Given the description of an element on the screen output the (x, y) to click on. 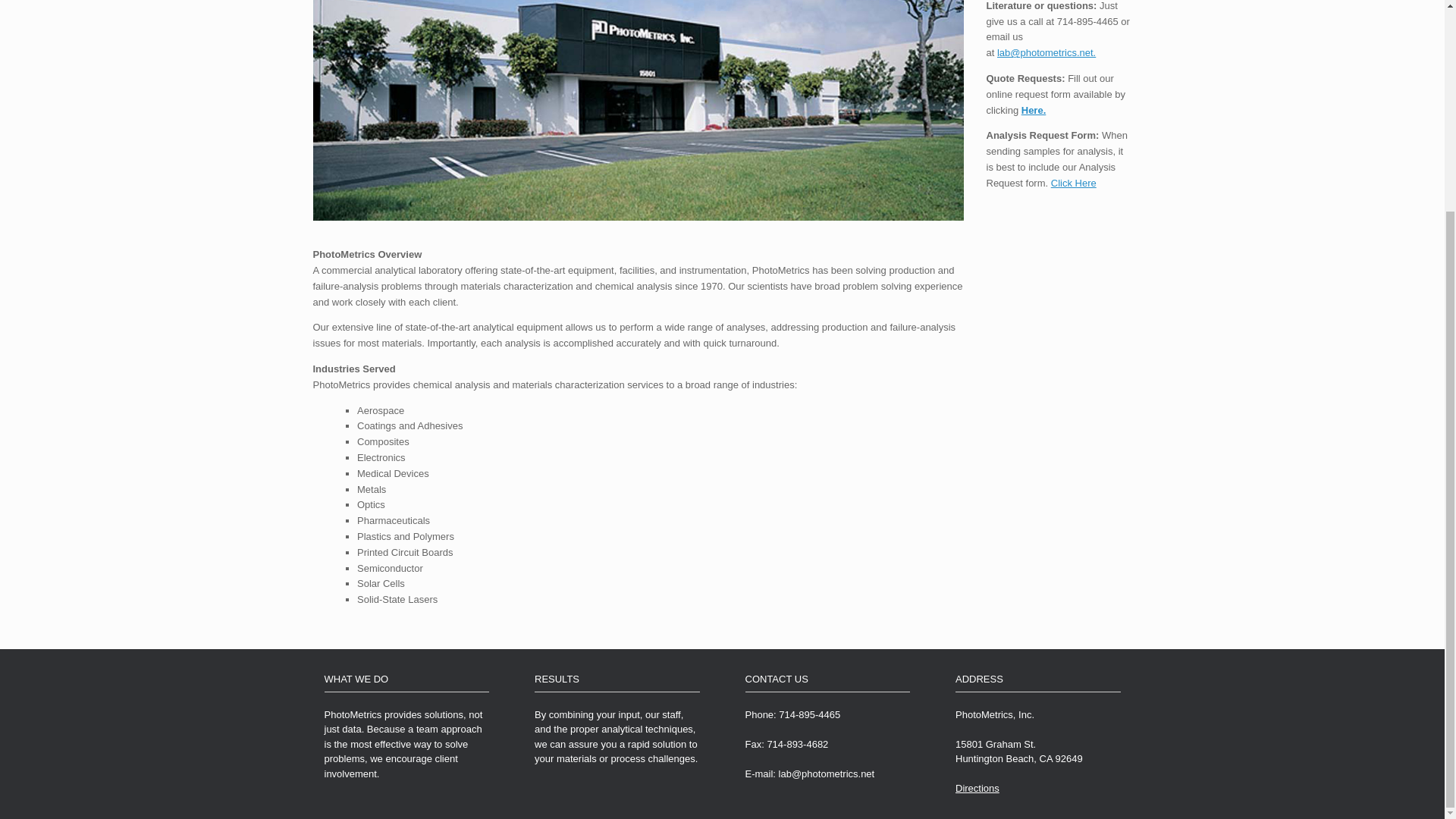
Directions (976, 787)
Click Here (1073, 183)
Here. (1034, 110)
